Given the description of an element on the screen output the (x, y) to click on. 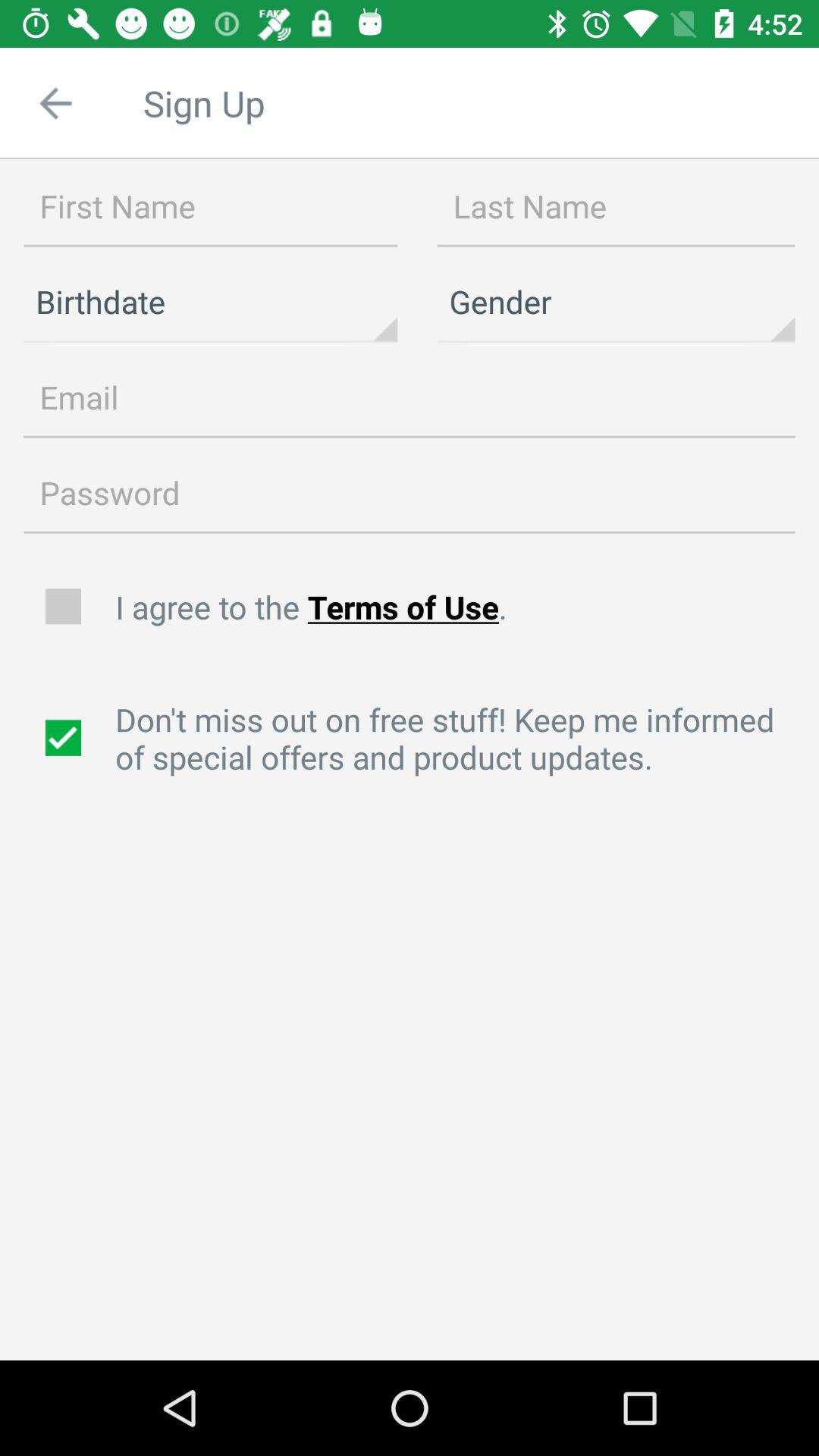
agree to terms of use (65, 606)
